Given the description of an element on the screen output the (x, y) to click on. 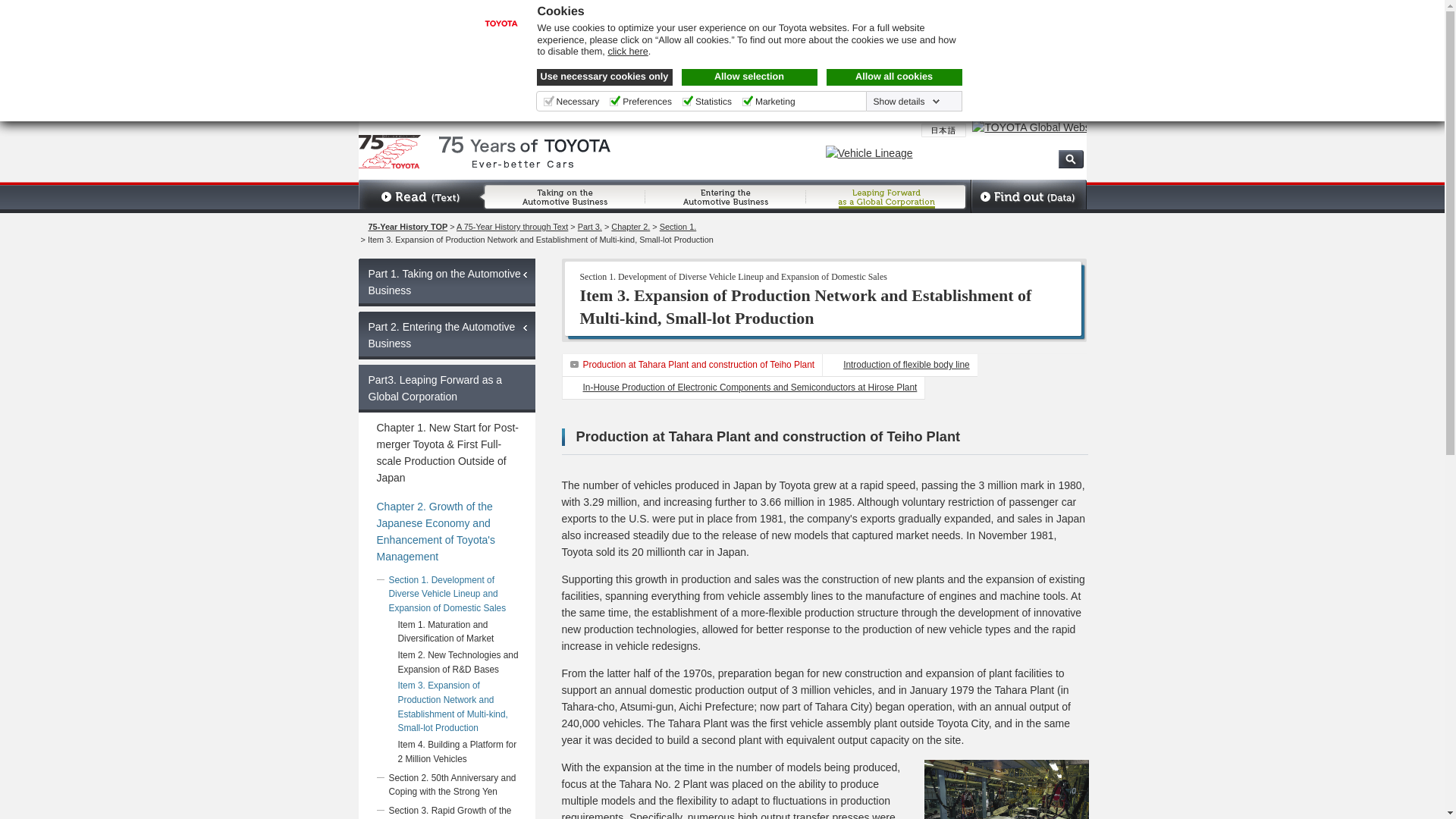
Allow selection (748, 76)
Show details (905, 101)
Allow all cookies (894, 76)
Use necessary cookies only (604, 76)
click here (627, 50)
